Given the description of an element on the screen output the (x, y) to click on. 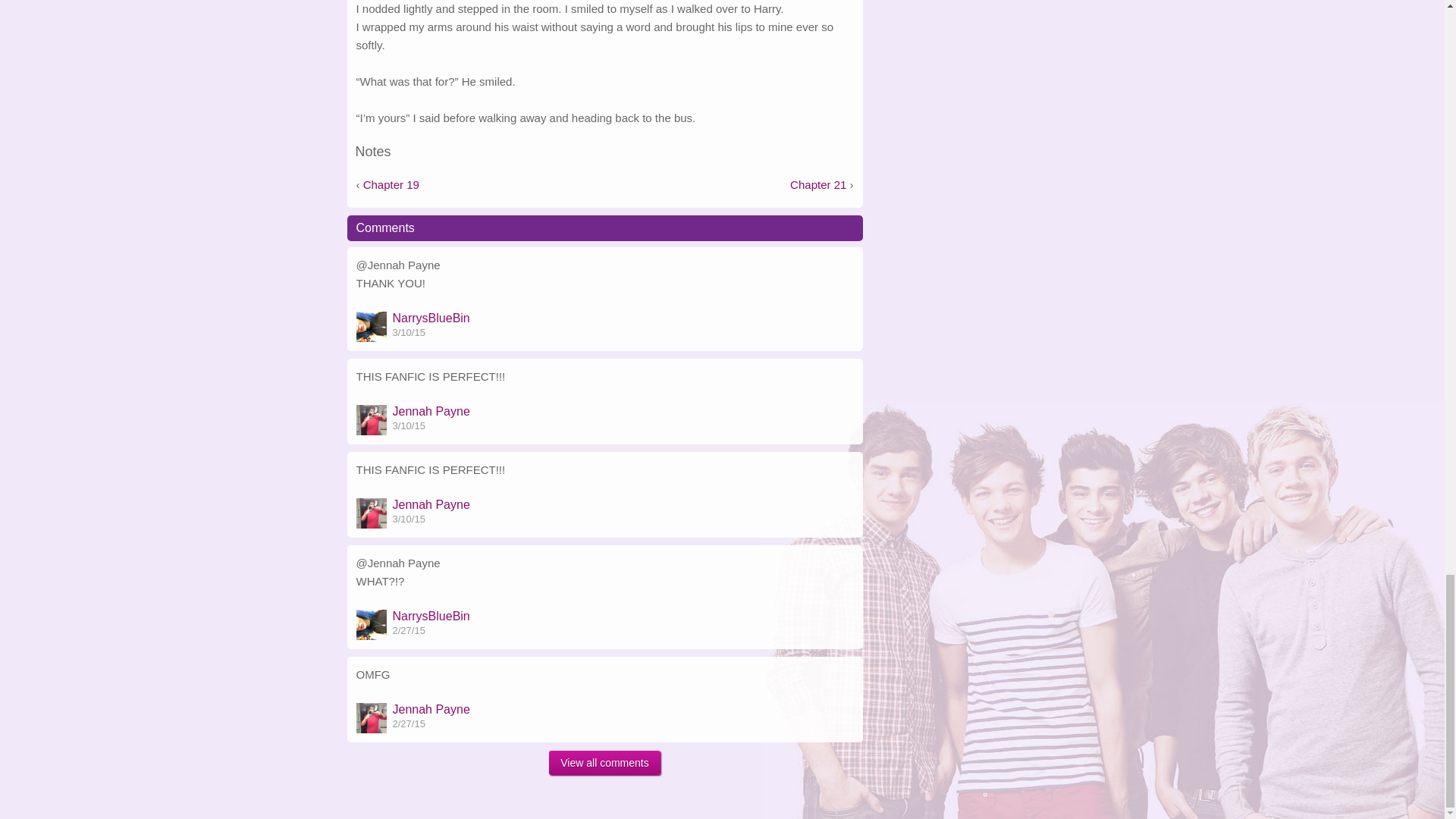
Jennah Payne (431, 504)
Chapter 21 (817, 184)
NarrysBlueBin (431, 318)
View all comments (603, 762)
Jennah Payne (431, 411)
NarrysBlueBin (431, 616)
Chapter 19 (390, 184)
Jennah Payne (431, 709)
